Given the description of an element on the screen output the (x, y) to click on. 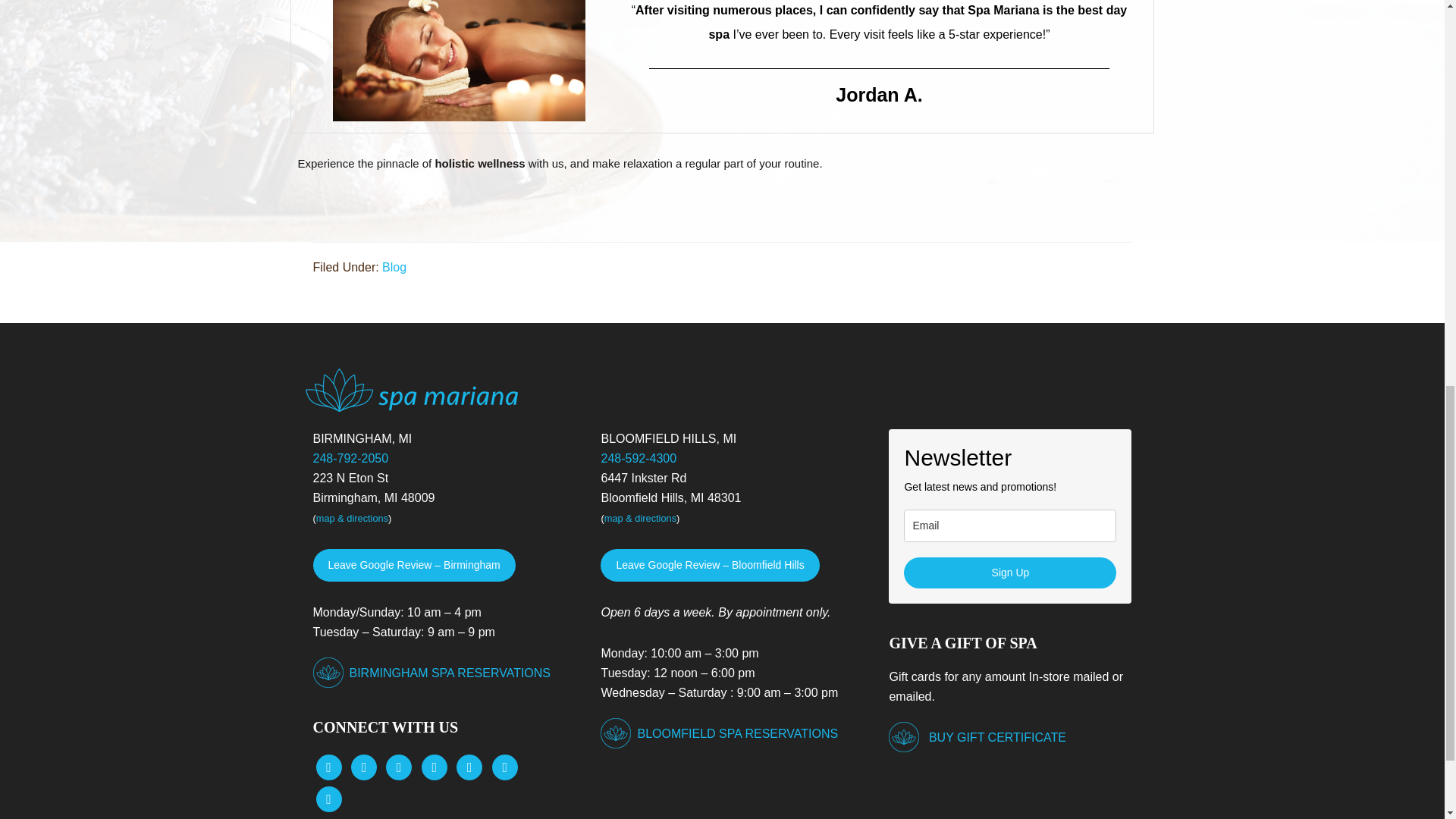
Default Label (469, 766)
Twitter (363, 766)
Instagram (398, 766)
Default Label (505, 766)
Facebook (327, 766)
Default Label (434, 766)
